Given the description of an element on the screen output the (x, y) to click on. 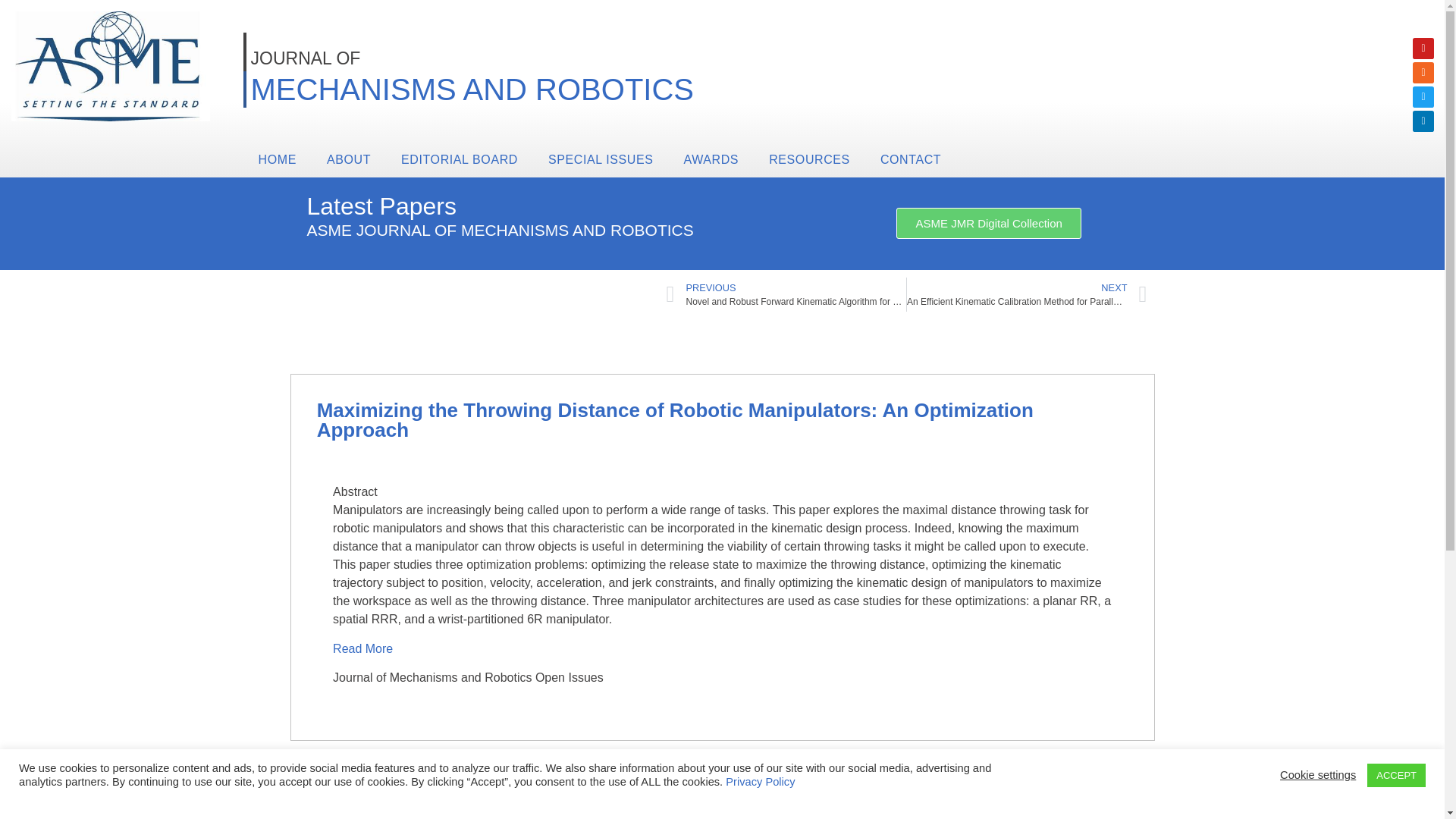
ASME JMR Digital Collection (988, 223)
ABOUT (348, 159)
HOME (277, 159)
EDITORIAL BOARD (458, 159)
Read More (363, 648)
AWARDS (711, 159)
SPECIAL ISSUES (600, 159)
RESOURCES (809, 159)
ACCEPT (1396, 775)
